Given the description of an element on the screen output the (x, y) to click on. 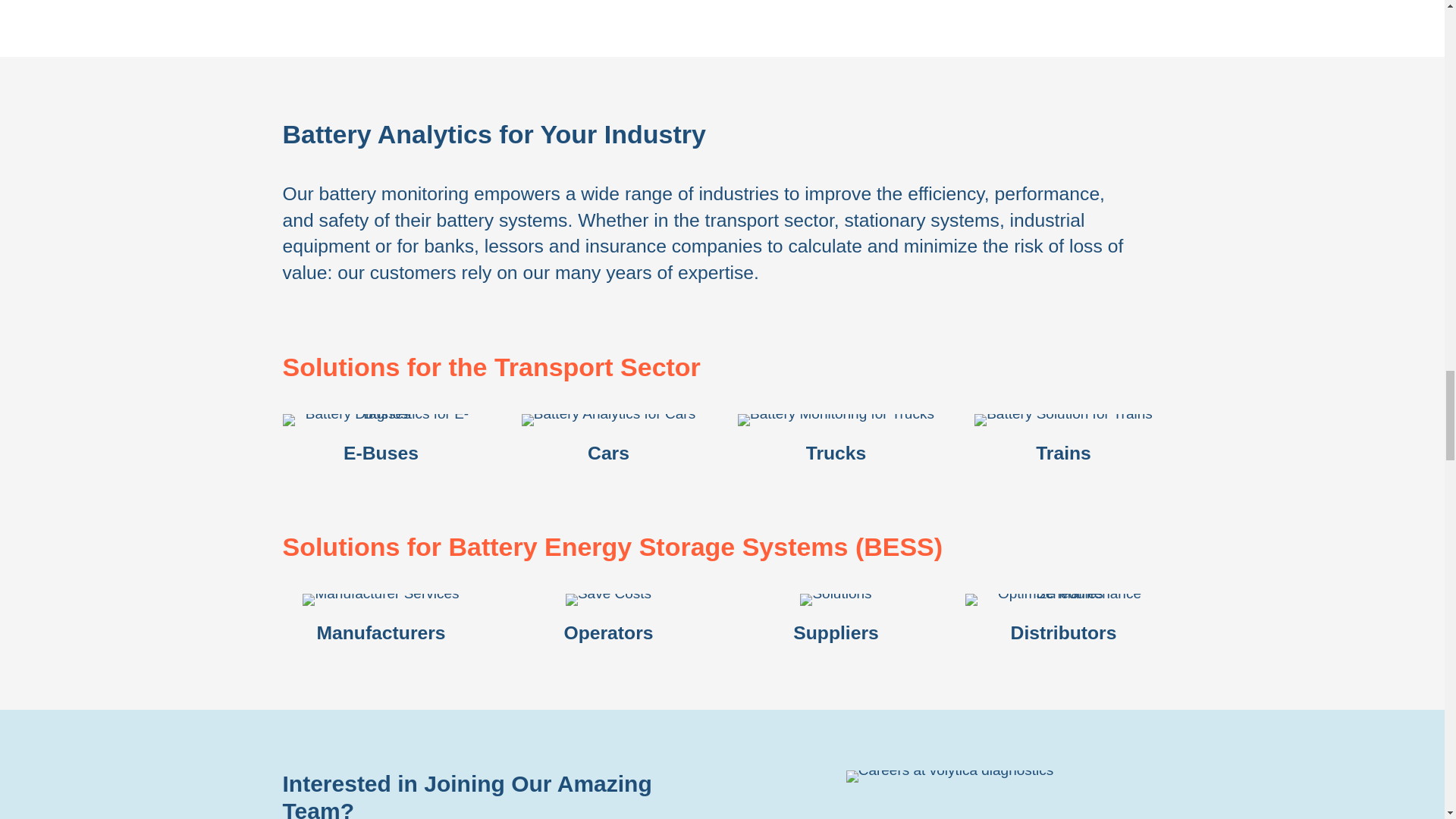
E-Busses (380, 419)
